Given the description of an element on the screen output the (x, y) to click on. 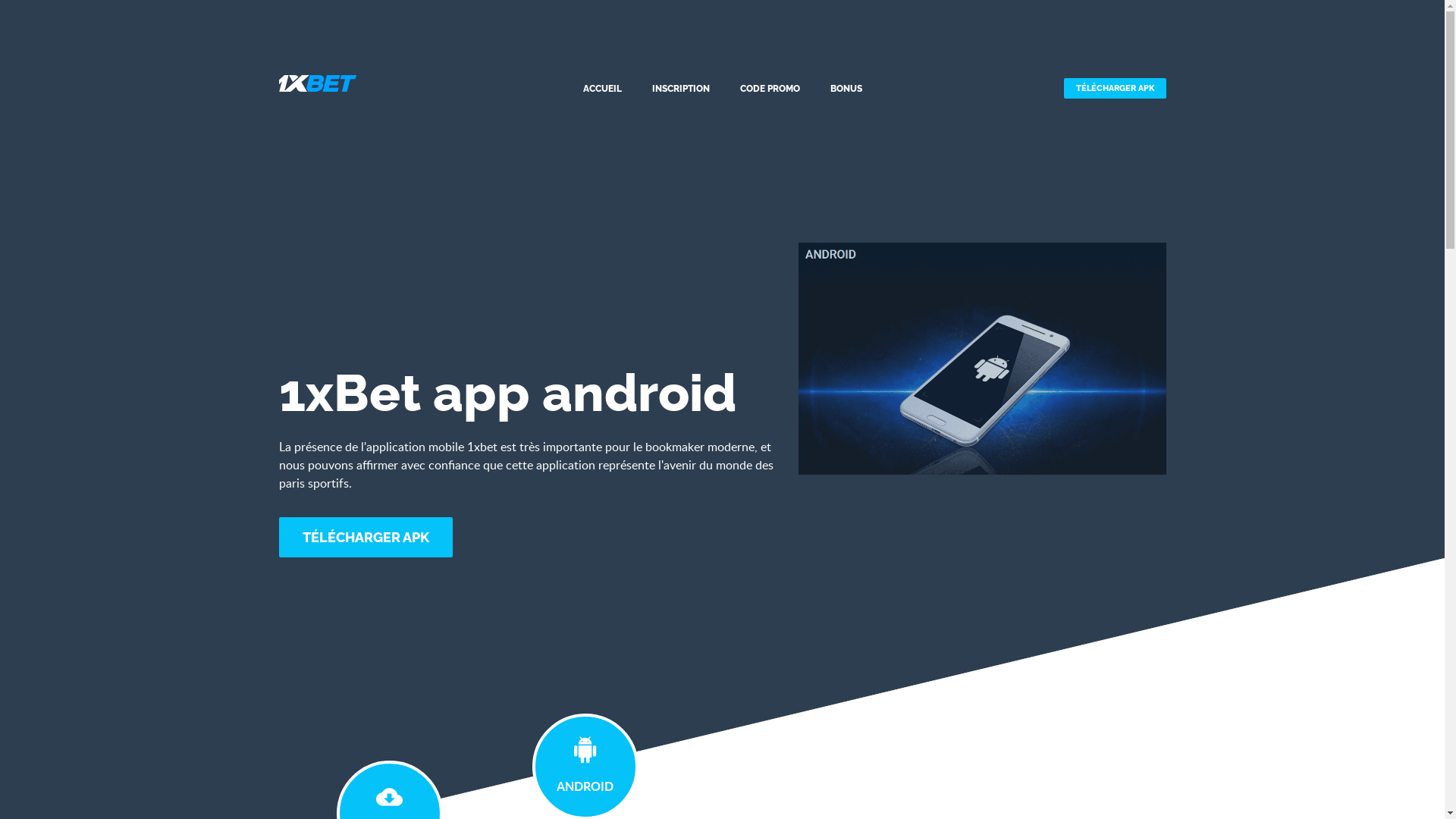
INSCRIPTION Element type: text (679, 88)
BONUS Element type: text (845, 88)
CODE PROMO Element type: text (769, 88)
ACCUEIL Element type: text (602, 88)
